Given the description of an element on the screen output the (x, y) to click on. 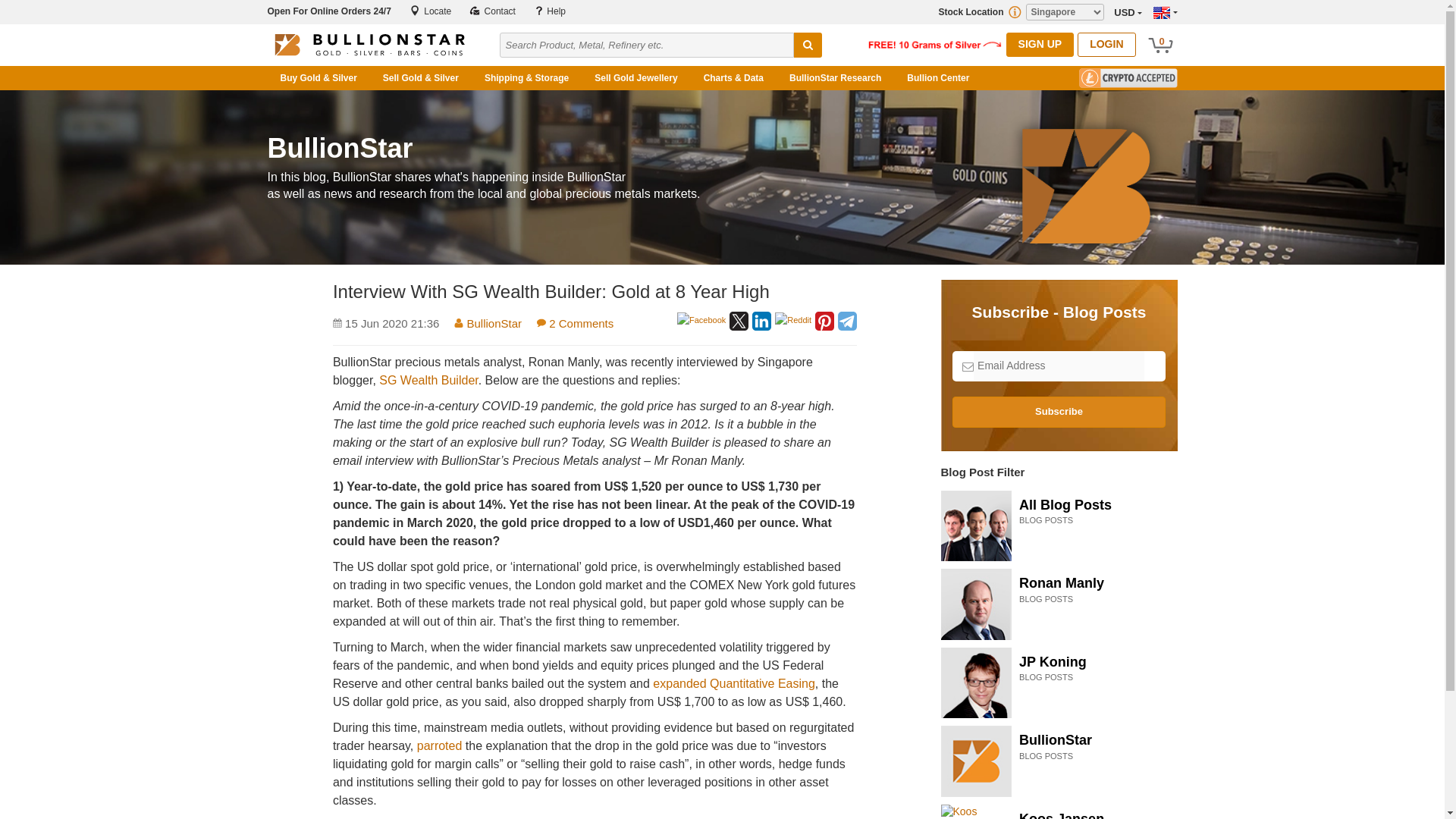
SIGN UP (1040, 44)
LOGIN (1106, 44)
Contact (491, 11)
Help (550, 11)
Locate (430, 11)
